Given the description of an element on the screen output the (x, y) to click on. 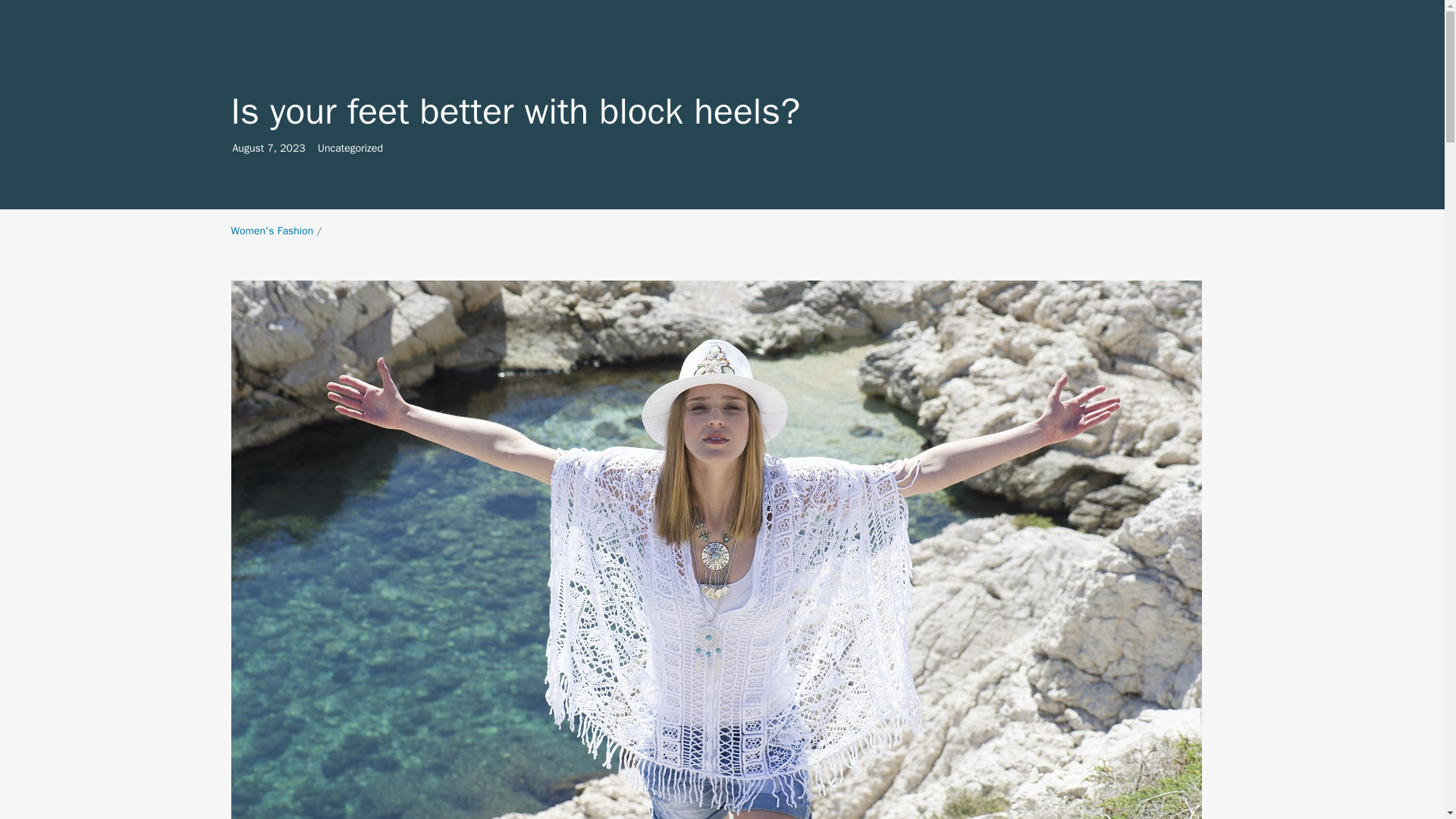
August (247, 147)
2023 (271, 230)
